Given the description of an element on the screen output the (x, y) to click on. 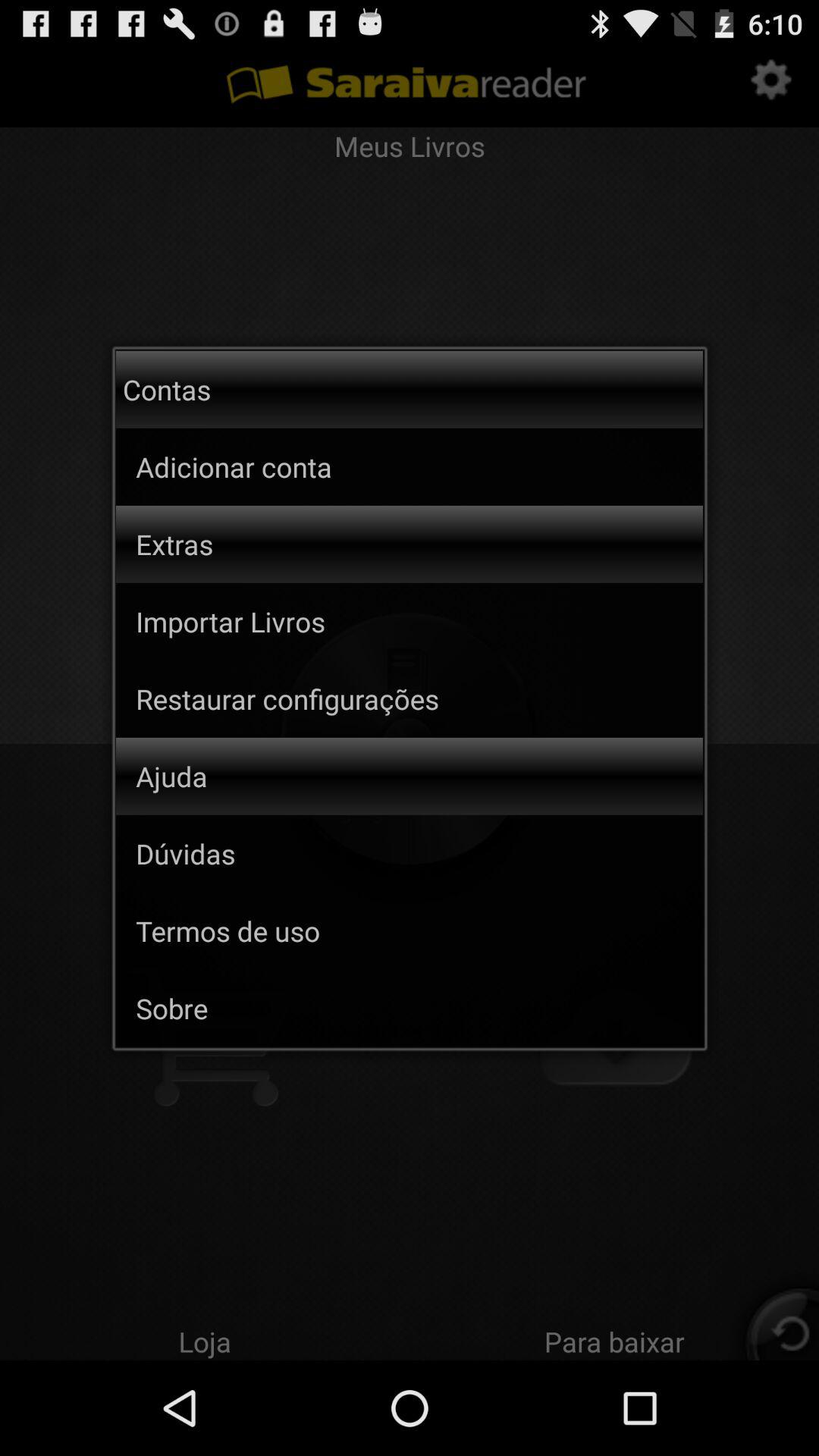
click app below extras app (418, 621)
